Given the description of an element on the screen output the (x, y) to click on. 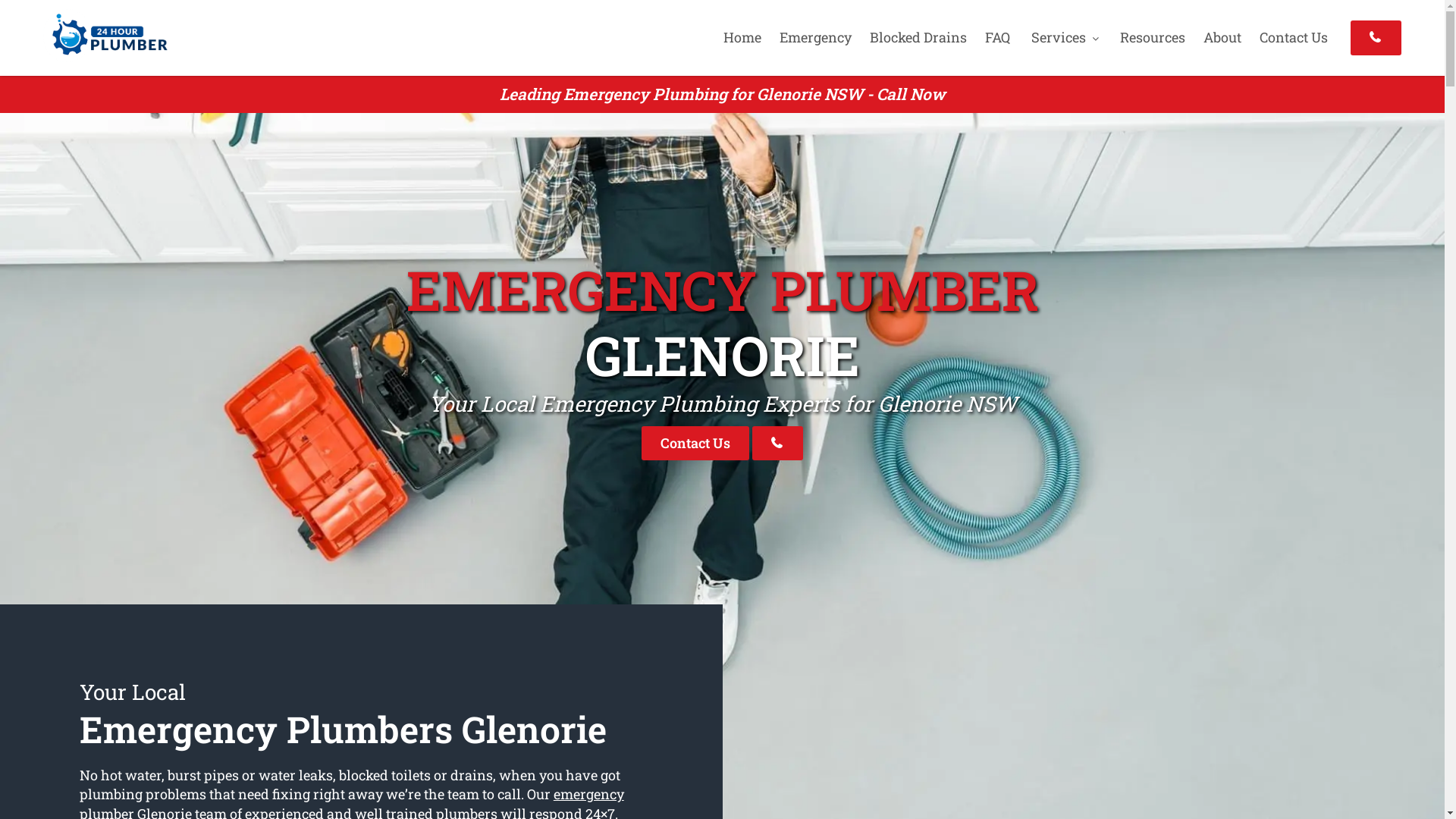
Home Element type: text (741, 37)
Contact Us Element type: text (695, 443)
FAQ Element type: text (997, 37)
24 Hour Plumber Element type: hover (105, 56)
Contact Us Element type: text (1293, 37)
Blocked Drains Element type: text (918, 37)
Emergency Element type: text (815, 37)
About Element type: text (1221, 37)
Services Element type: text (1064, 37)
Resources Element type: text (1152, 37)
